Given the description of an element on the screen output the (x, y) to click on. 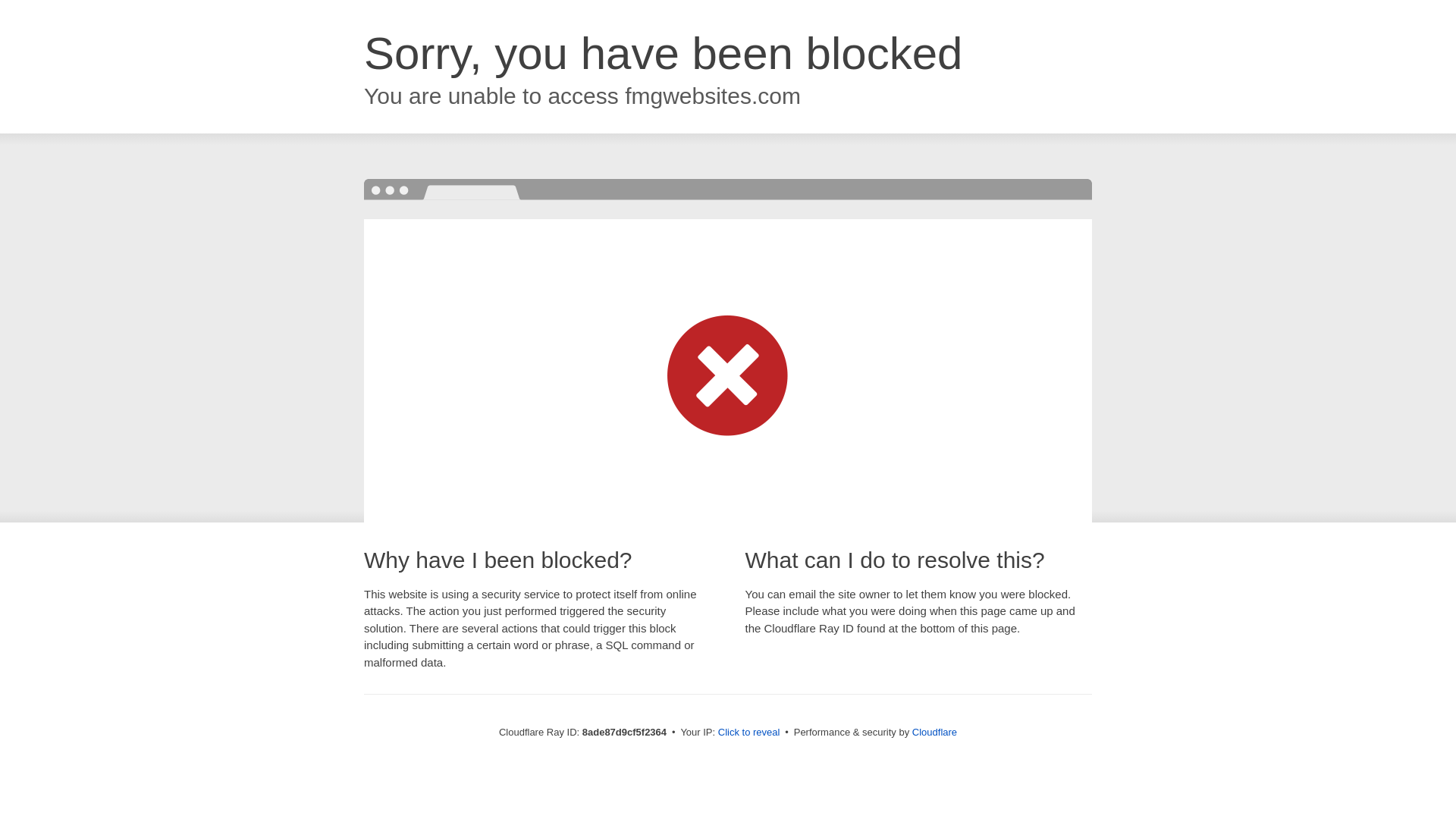
Click to reveal (748, 732)
Cloudflare (934, 731)
